Given the description of an element on the screen output the (x, y) to click on. 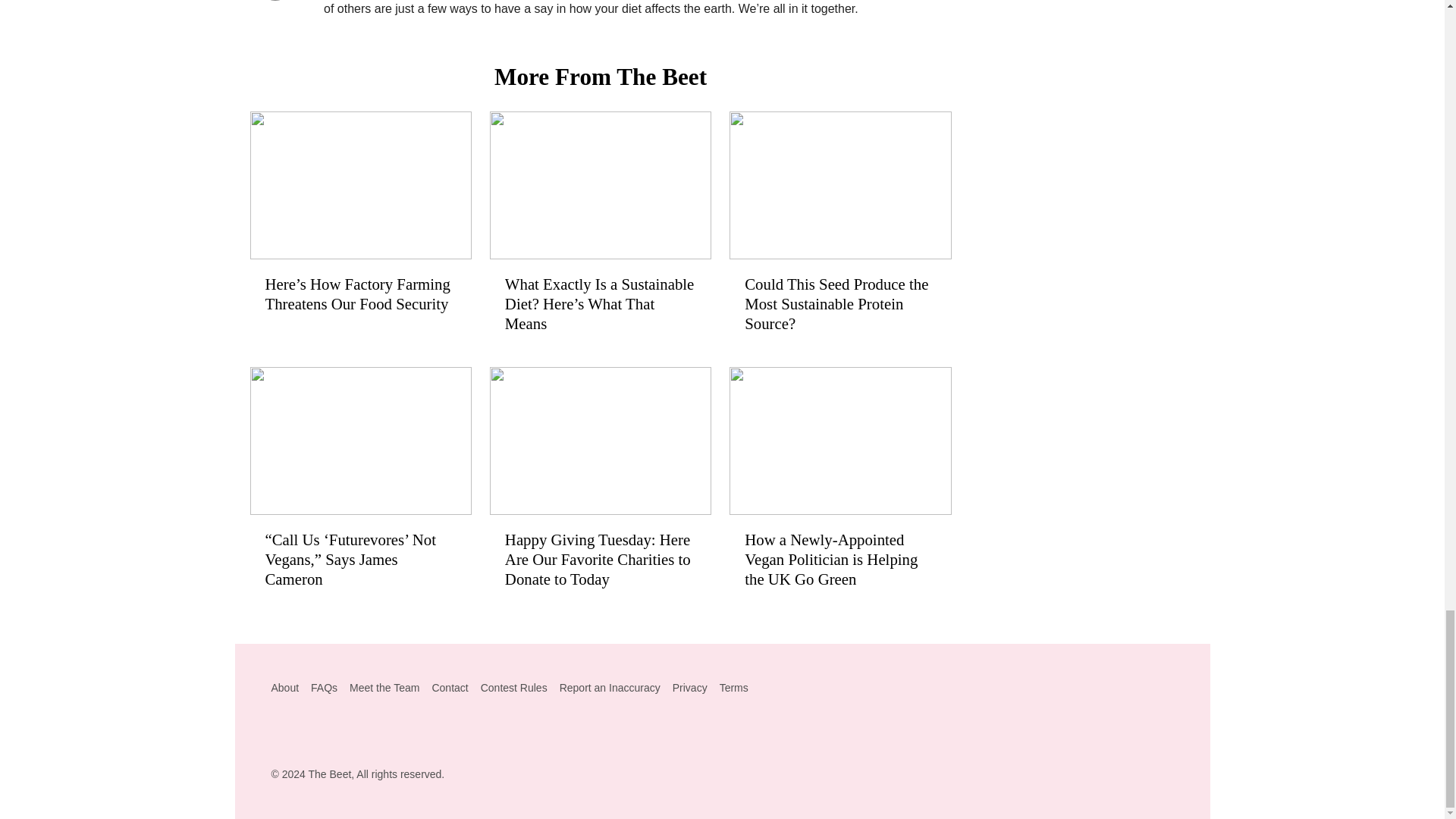
Could This Seed Produce the Most Sustainable Protein Source? (839, 229)
